Given the description of an element on the screen output the (x, y) to click on. 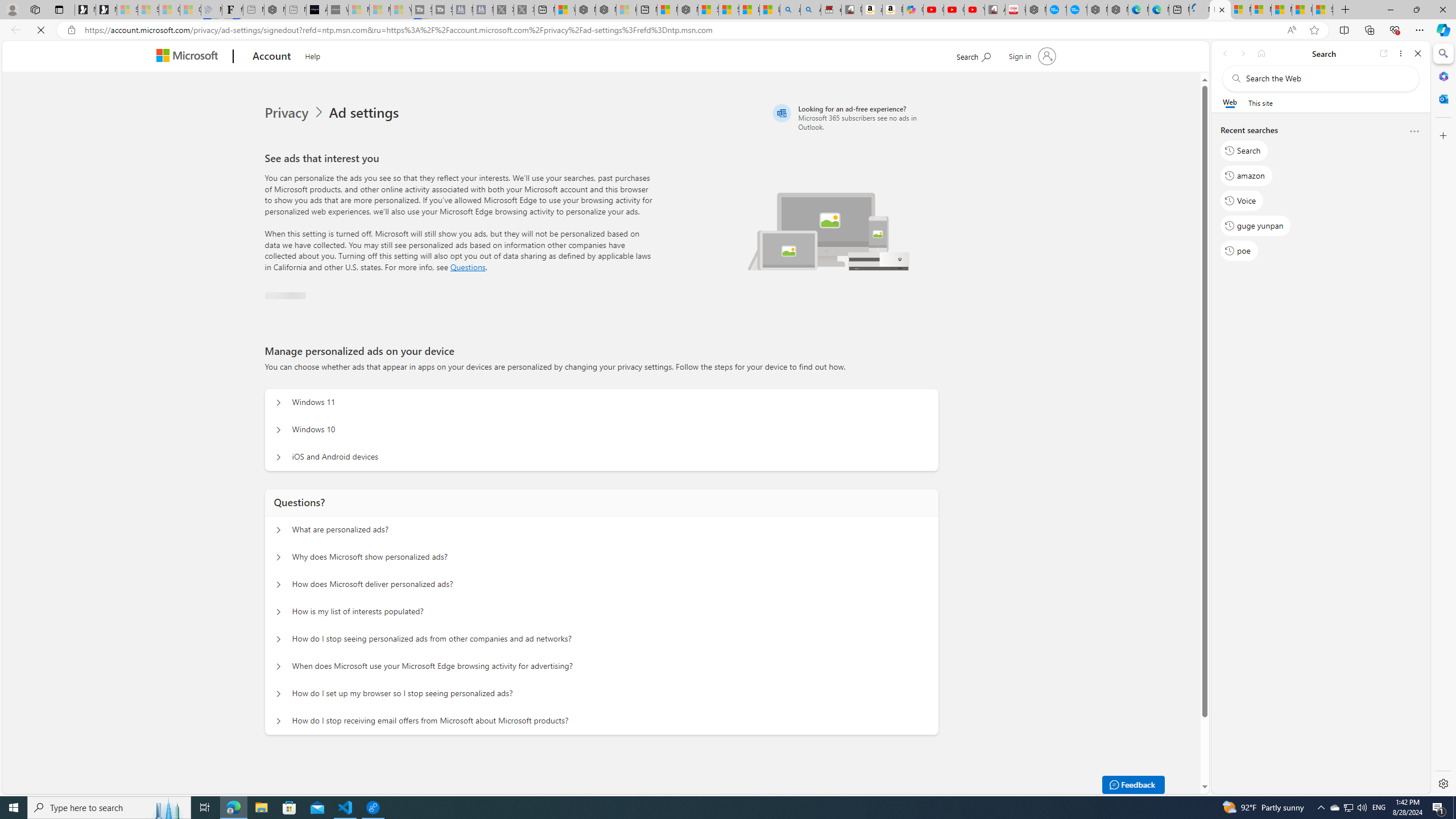
Open link in new tab (1383, 53)
I Gained 20 Pounds of Muscle in 30 Days! | Watch (1302, 9)
Side bar (1443, 418)
Microsoft Start - Sleeping (379, 9)
All Cubot phones (994, 9)
New tab - Sleeping (296, 9)
amazon (1246, 175)
Home (1261, 53)
The most popular Google 'how to' searches (1076, 9)
